Given the description of an element on the screen output the (x, y) to click on. 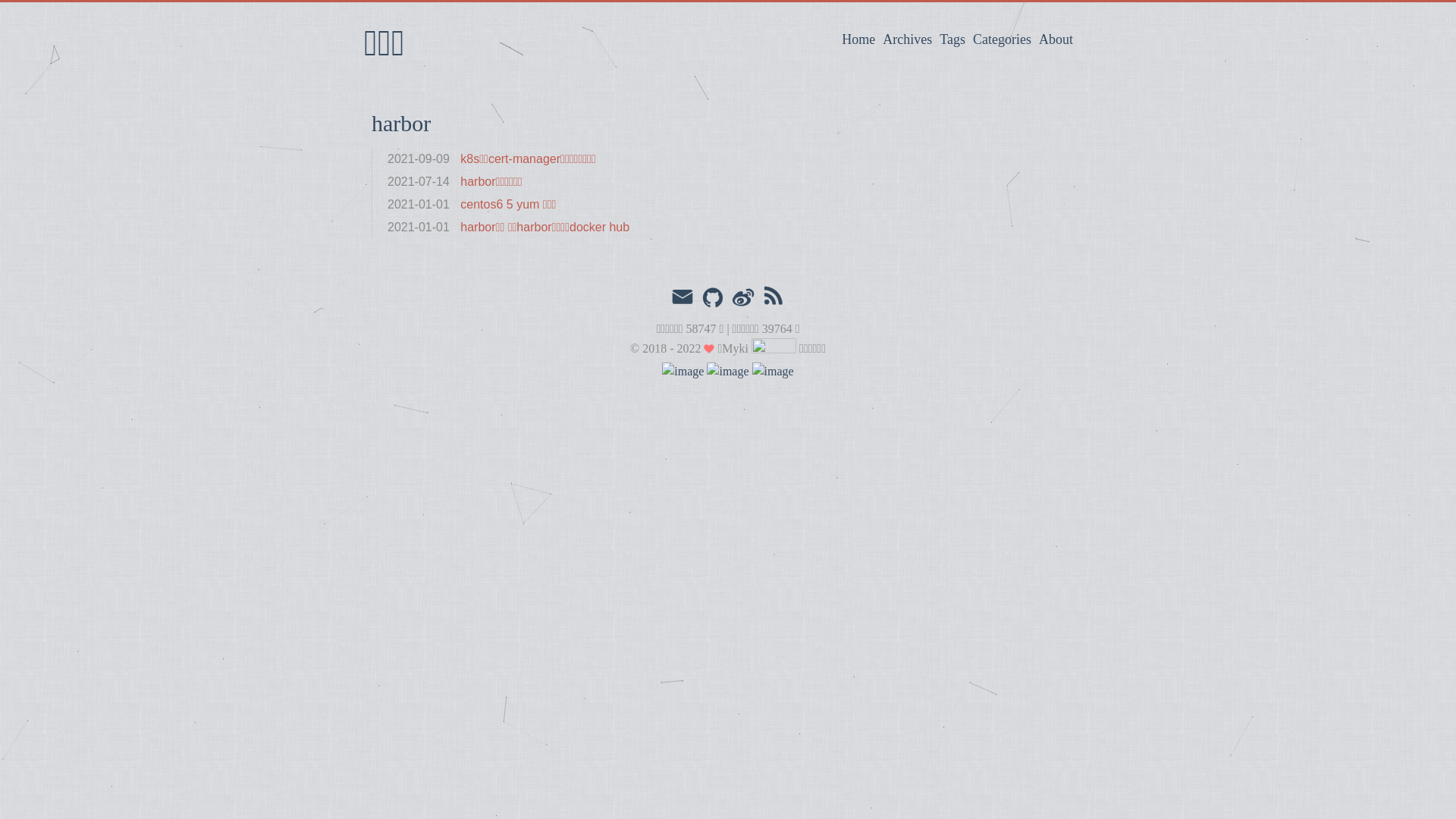
Home Element type: text (858, 39)
Categories Element type: text (1001, 39)
About Element type: text (1055, 39)
email Element type: hover (682, 296)
Tags Element type: text (952, 39)
rss Element type: hover (773, 298)
weibo Element type: hover (742, 298)
Archives Element type: text (906, 39)
github Element type: hover (712, 298)
